Given the description of an element on the screen output the (x, y) to click on. 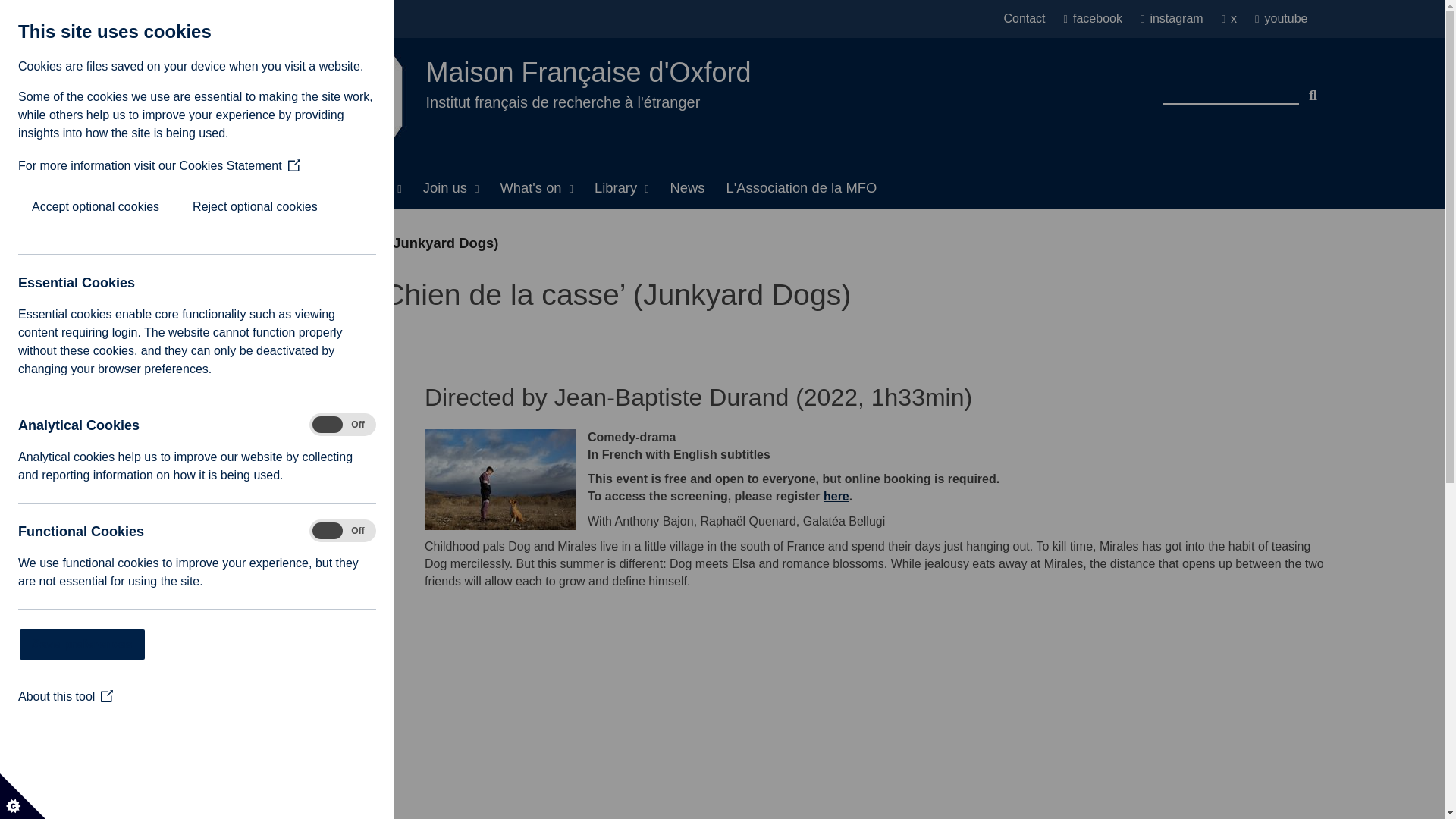
About (208, 188)
instagram (1177, 19)
facebook (1099, 19)
instagram (1177, 19)
Home (144, 188)
People (281, 188)
youtube (1281, 19)
x (1235, 19)
x (1235, 19)
Research (366, 188)
